Given the description of an element on the screen output the (x, y) to click on. 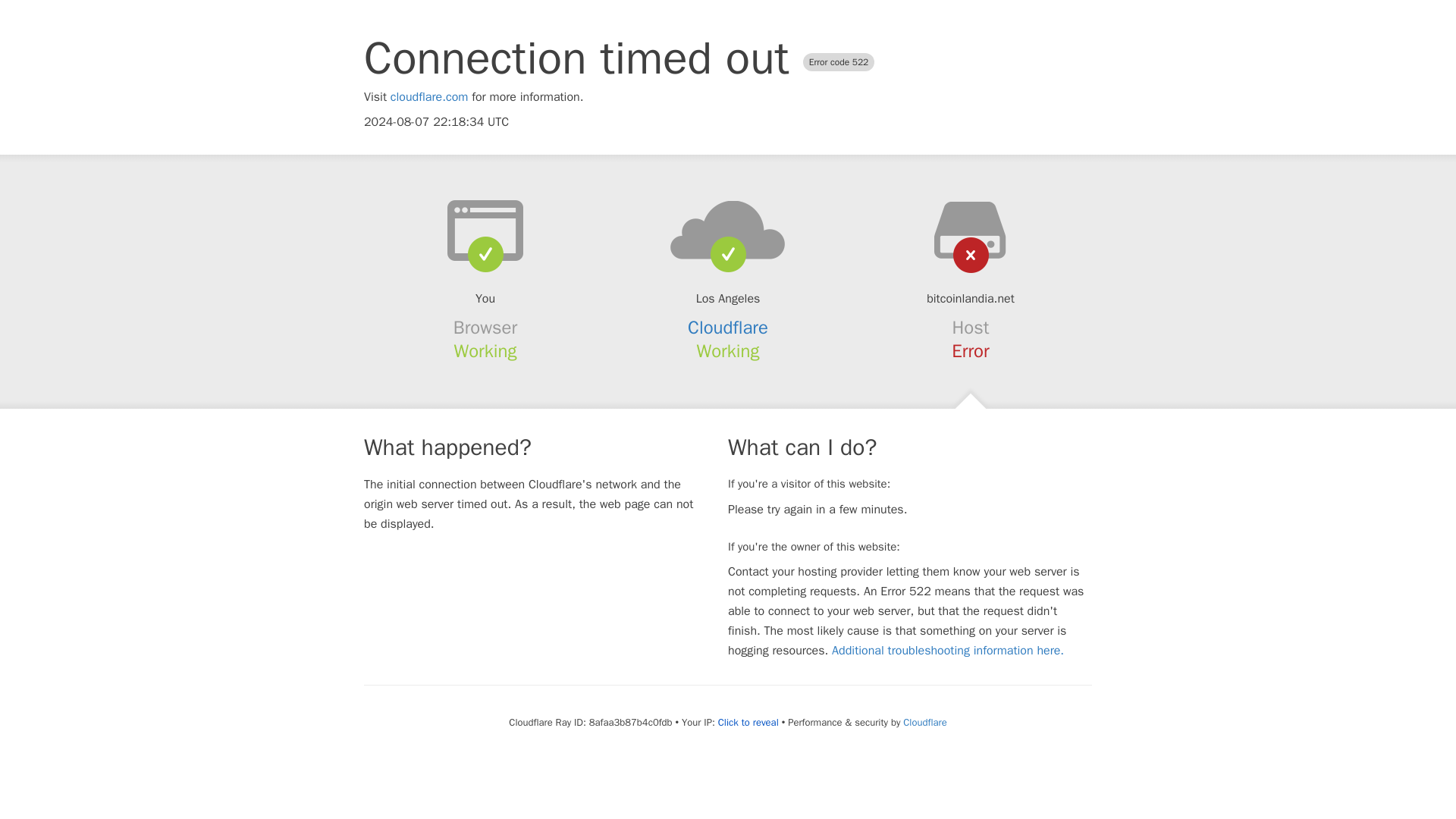
Click to reveal (747, 722)
Additional troubleshooting information here. (947, 650)
Cloudflare (727, 327)
cloudflare.com (429, 96)
Cloudflare (924, 721)
